Given the description of an element on the screen output the (x, y) to click on. 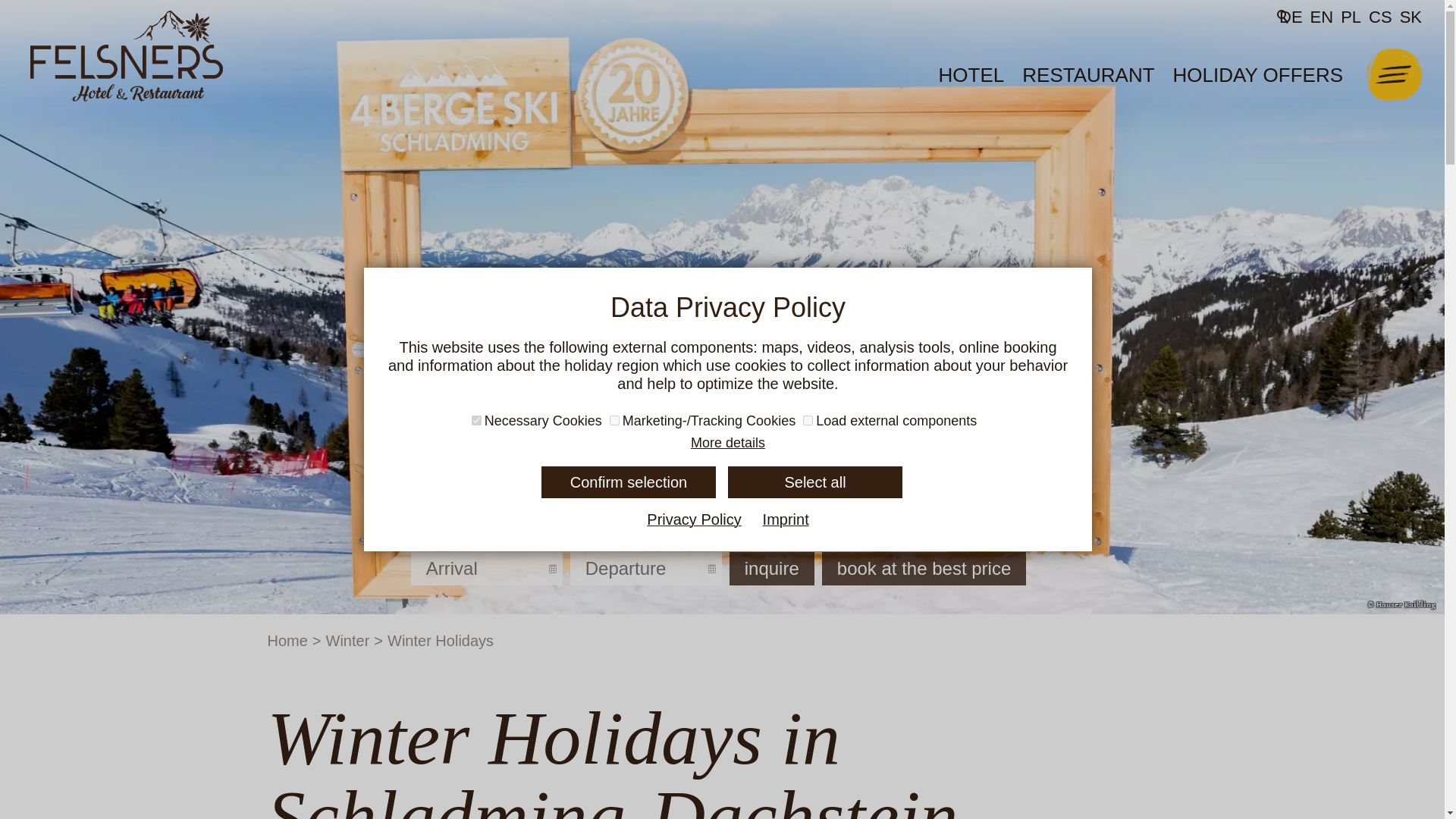
HOLIDAY OFFERS (1257, 74)
CS (1380, 16)
HOTEL (971, 74)
book at the best price (924, 568)
SK (1409, 16)
1 (615, 420)
1 (476, 420)
Restaurant in Haus im Ennstal (1088, 74)
PL (1350, 16)
DE (1292, 16)
RESTAURANT (1088, 74)
EN (1322, 16)
go to homepage (126, 55)
inquire (771, 568)
1 (807, 420)
